Given the description of an element on the screen output the (x, y) to click on. 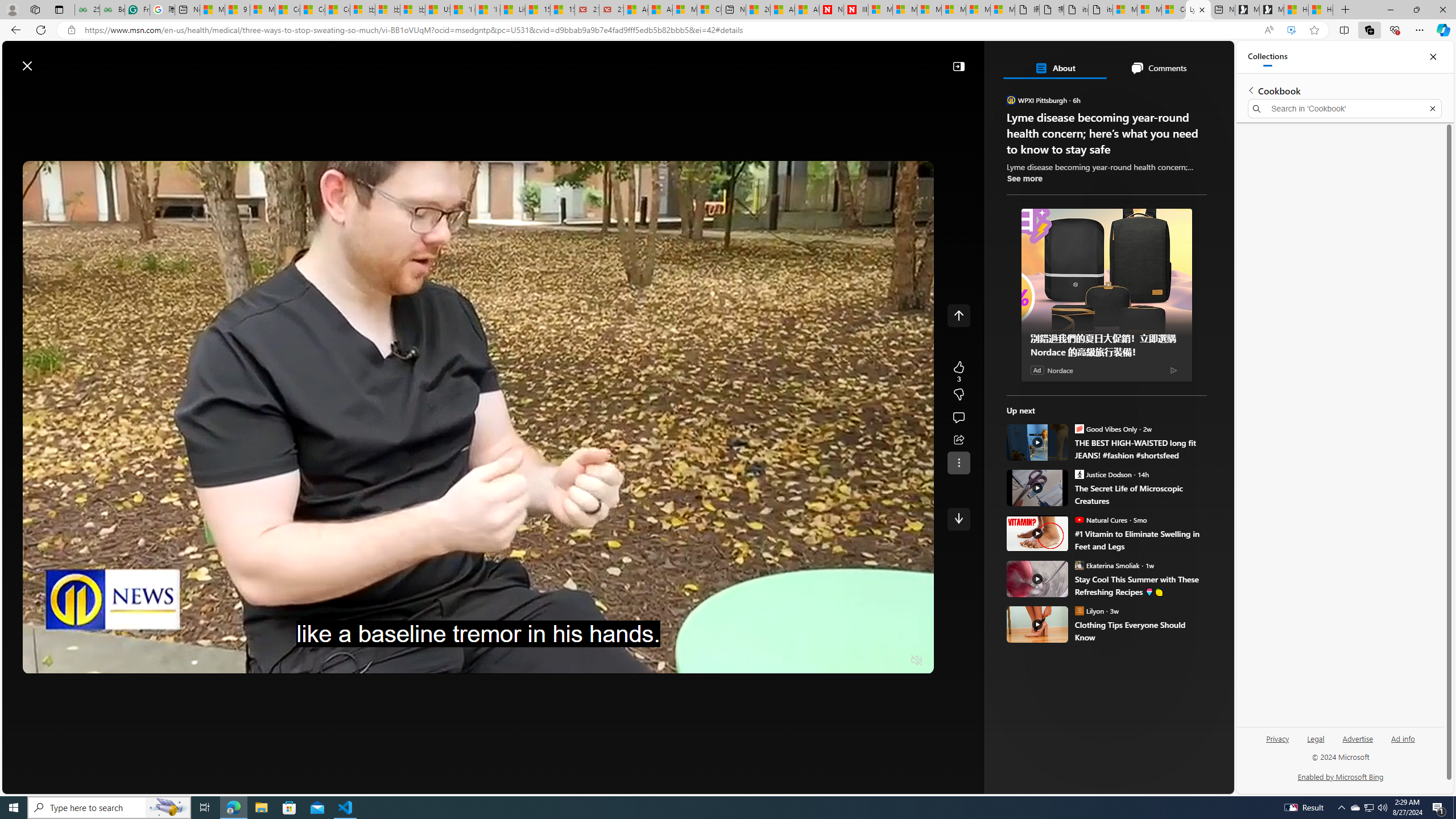
Open navigation menu (182, 92)
Good Vibes Only Good Vibes Only (1105, 428)
Privacy (1278, 738)
WPXI Pittsburgh (1011, 99)
itconcepthk.com/projector_solutions.mp4 (1100, 9)
To get missing image descriptions, open the context menu. (1000, 92)
USA TODAY - MSN (437, 9)
Exit search (1432, 108)
Skip to footer (46, 59)
